Given the description of an element on the screen output the (x, y) to click on. 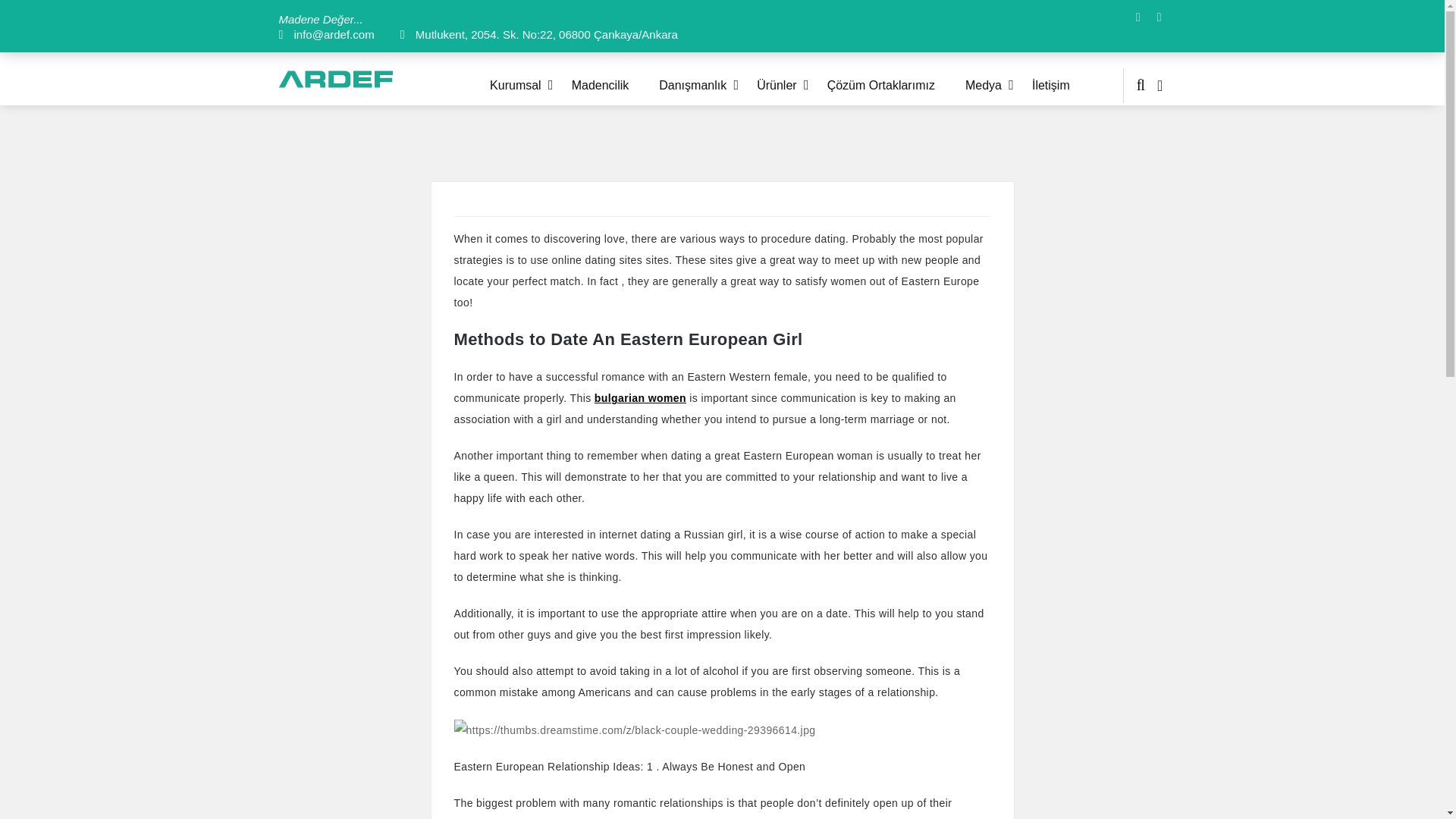
Kurumsal (530, 84)
Madencilik (615, 84)
Medya (998, 84)
